Given the description of an element on the screen output the (x, y) to click on. 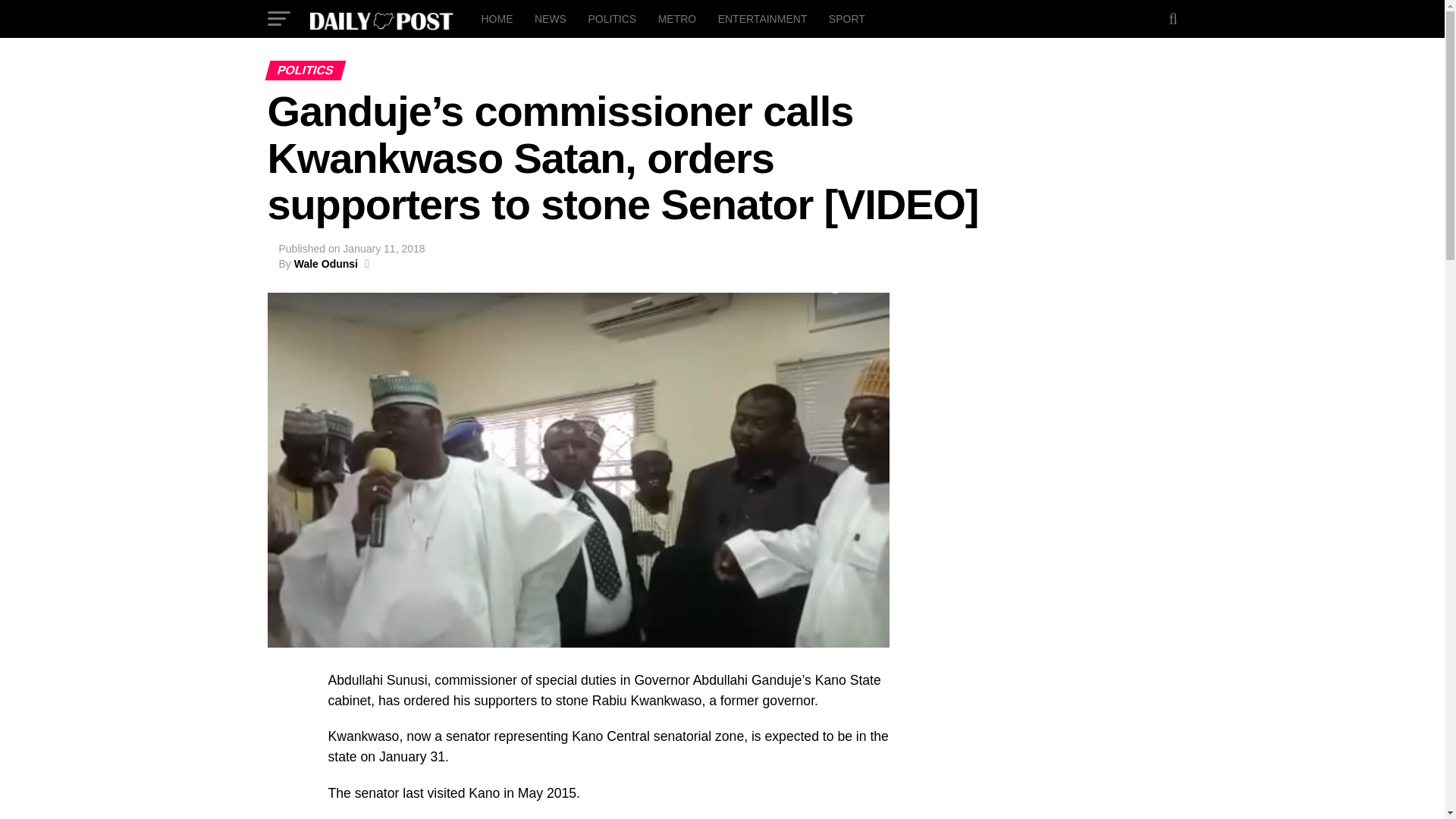
METRO (677, 18)
POLITICS (611, 18)
SPORT (847, 18)
ENTERTAINMENT (762, 18)
HOME (496, 18)
Posts by Wale Odunsi (326, 263)
NEWS (550, 18)
Wale Odunsi (326, 263)
